Given the description of an element on the screen output the (x, y) to click on. 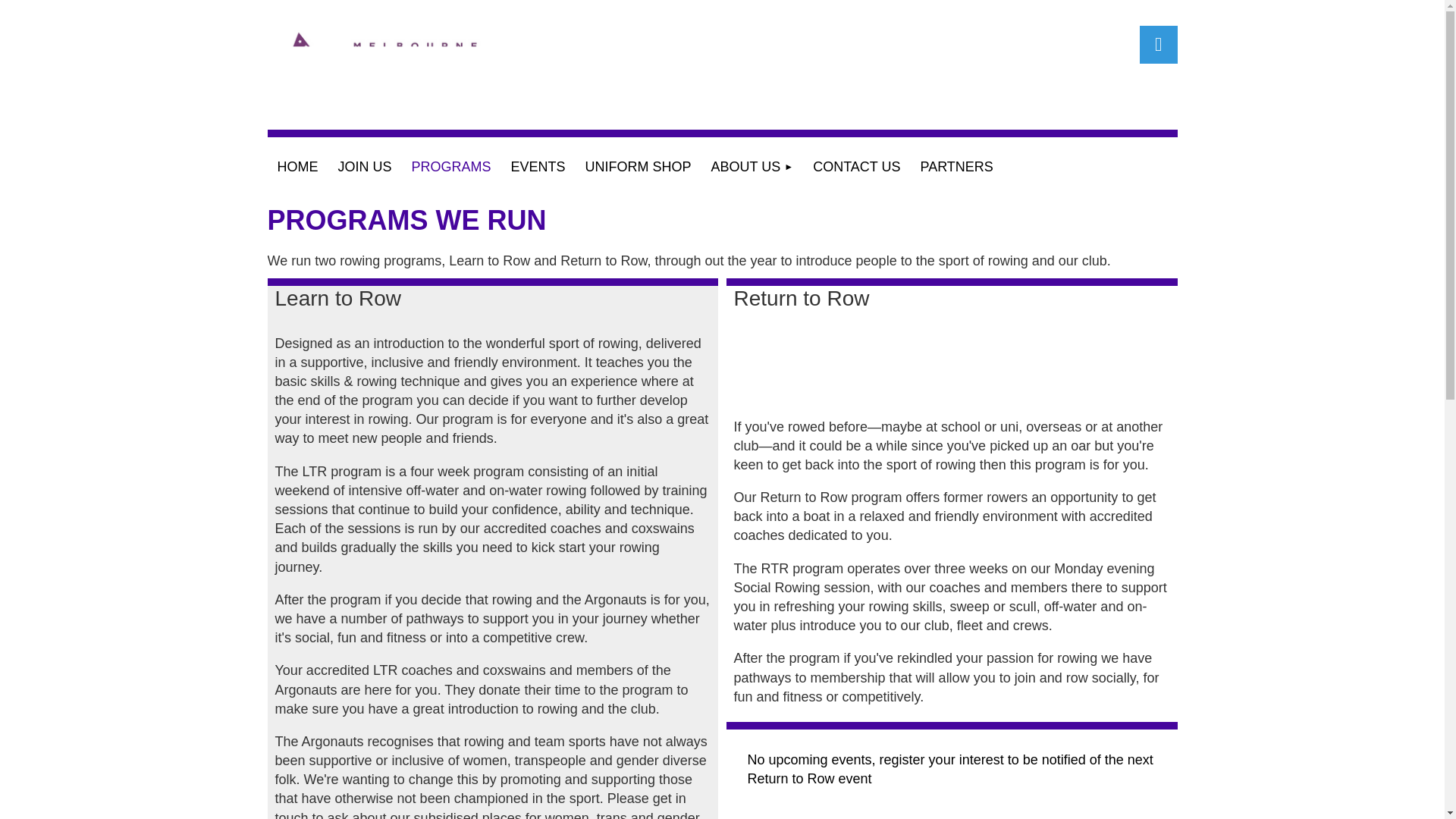
EVENTS (537, 167)
PARTNERS (956, 167)
PROGRAMS (450, 167)
CONTACT US (856, 167)
Uniform Shop (638, 167)
Log in (1157, 44)
UNIFORM SHOP (638, 167)
JOIN US (364, 167)
ABOUT US (752, 167)
HOME (296, 167)
